Given the description of an element on the screen output the (x, y) to click on. 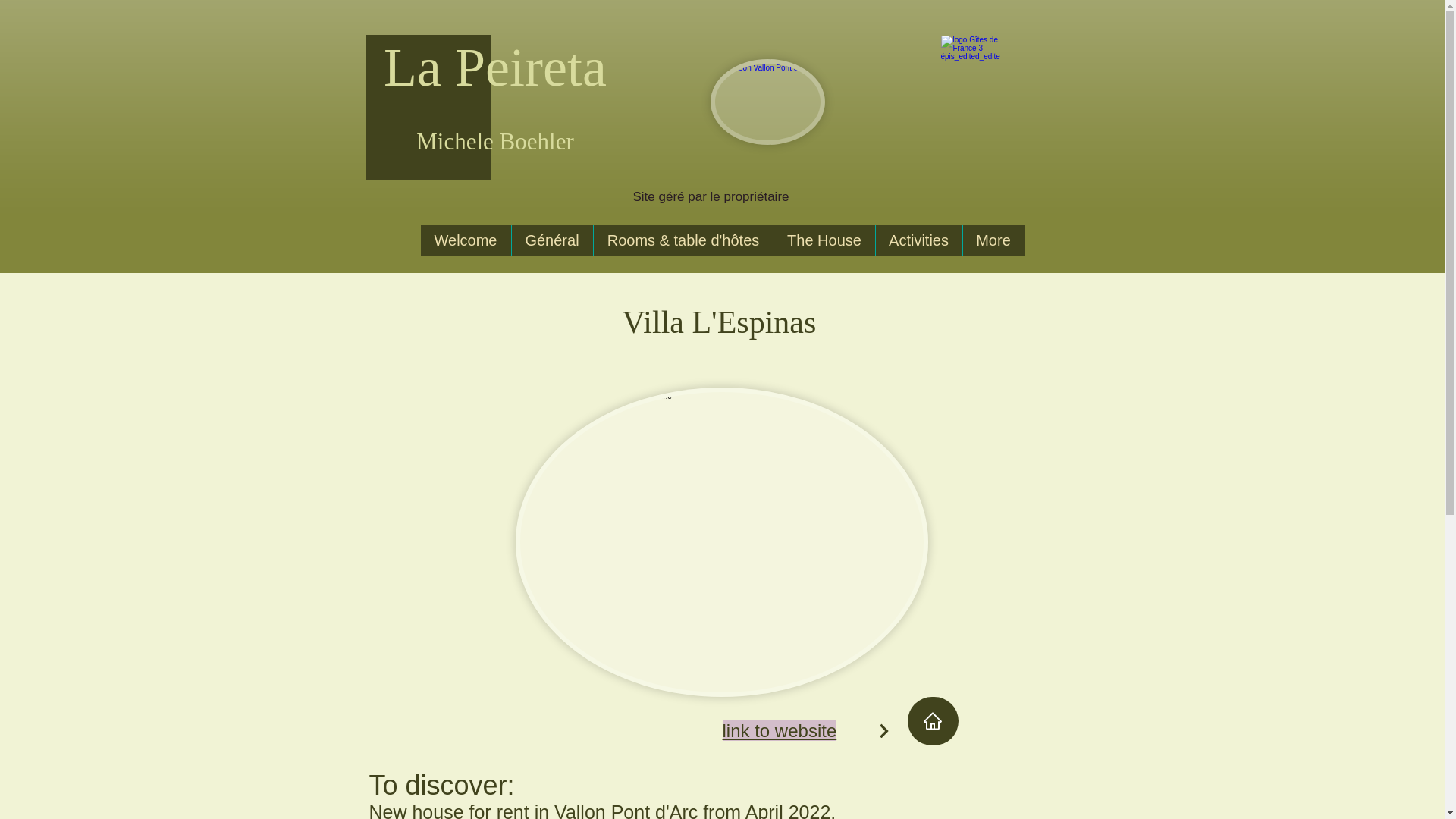
Activities (918, 240)
link to website (778, 730)
Welcome (465, 240)
La Peireta (495, 66)
The House (824, 240)
